Given the description of an element on the screen output the (x, y) to click on. 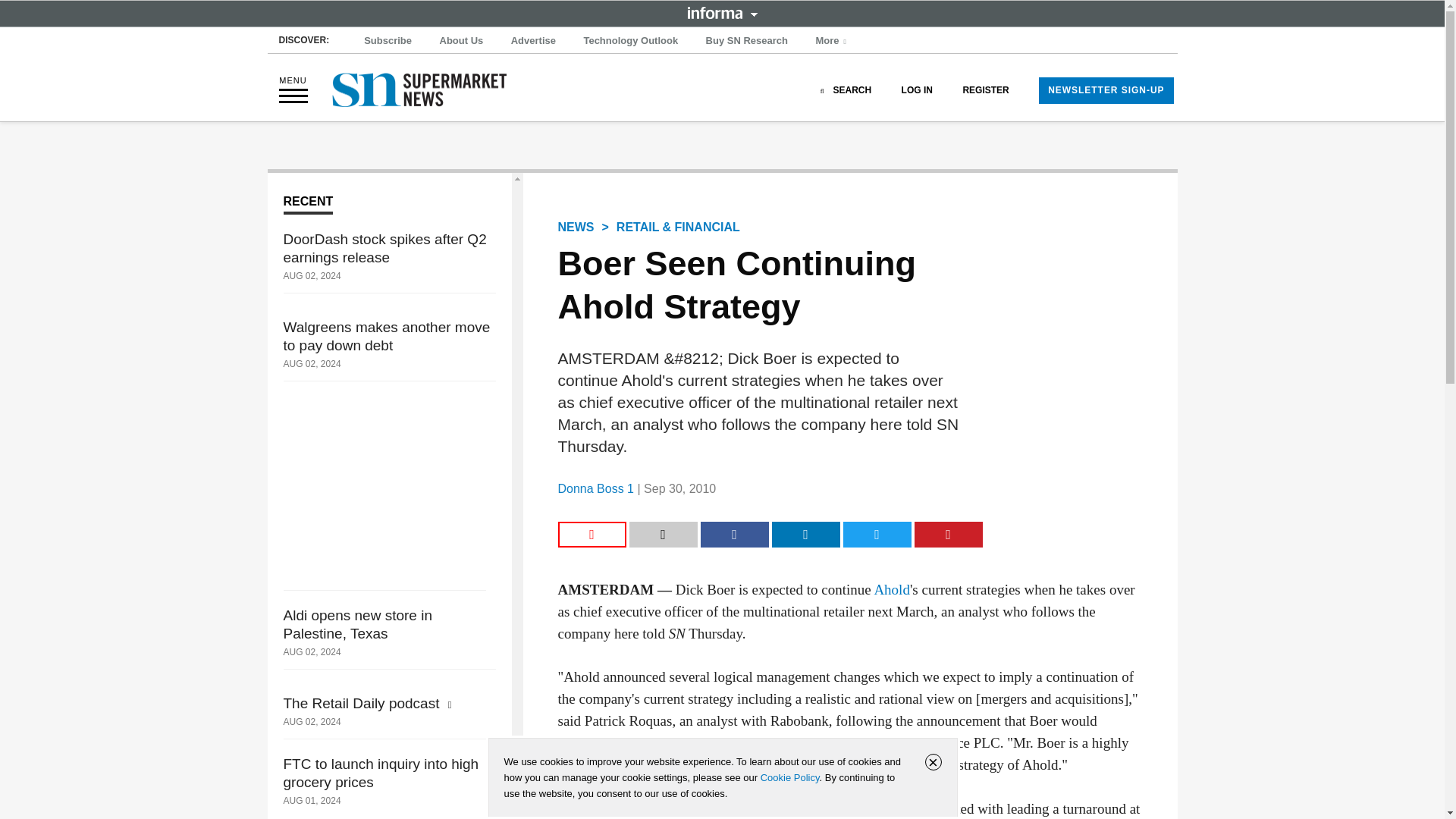
Cookie Policy (789, 777)
INFORMA (722, 12)
More (832, 41)
Buy SN Research (746, 41)
About Us (461, 41)
Subscribe (387, 41)
Advertise (533, 41)
Technology Outlook (630, 41)
